Given the description of an element on the screen output the (x, y) to click on. 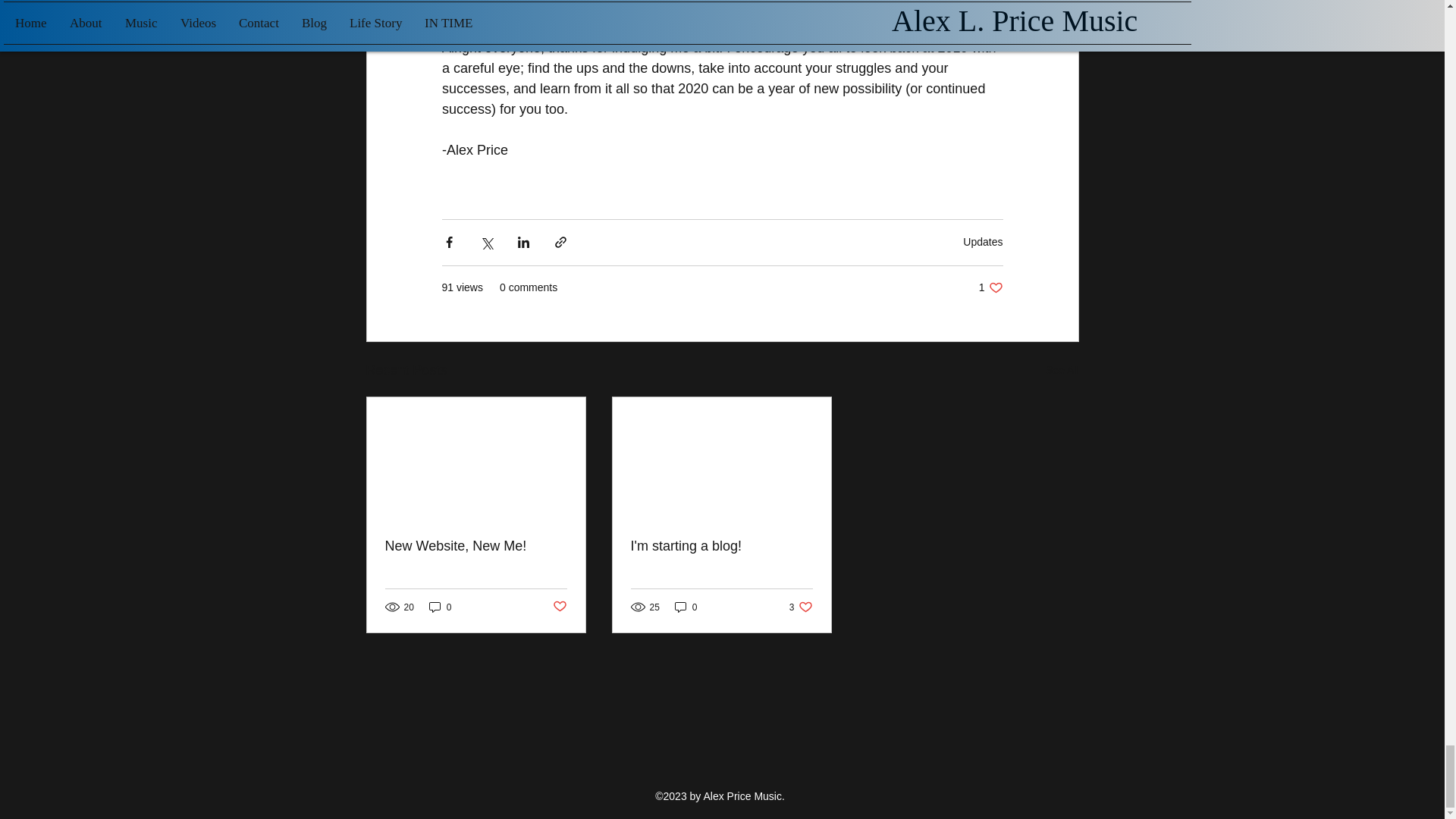
See All (1061, 370)
Updates (982, 241)
New Website, New Me! (476, 546)
Post not marked as liked (558, 606)
I'm starting a blog! (721, 546)
0 (990, 287)
